Given the description of an element on the screen output the (x, y) to click on. 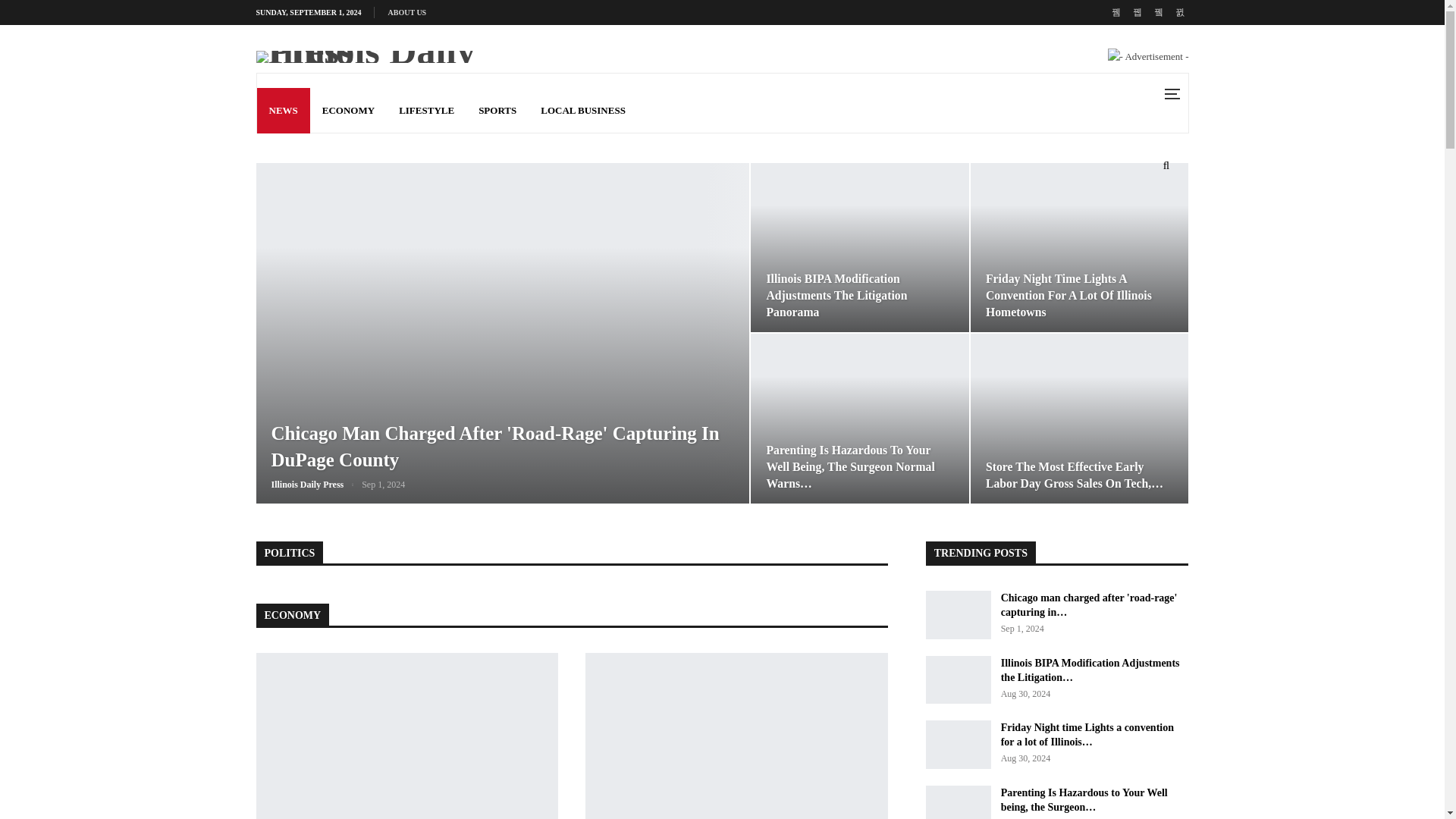
Illinois Daily Press (316, 484)
LIFESTYLE (426, 110)
ECONOMY (293, 614)
SPORTS (496, 110)
ECONOMY (348, 110)
LOCAL BUSINESS (582, 110)
ABOUT US (407, 12)
